Given the description of an element on the screen output the (x, y) to click on. 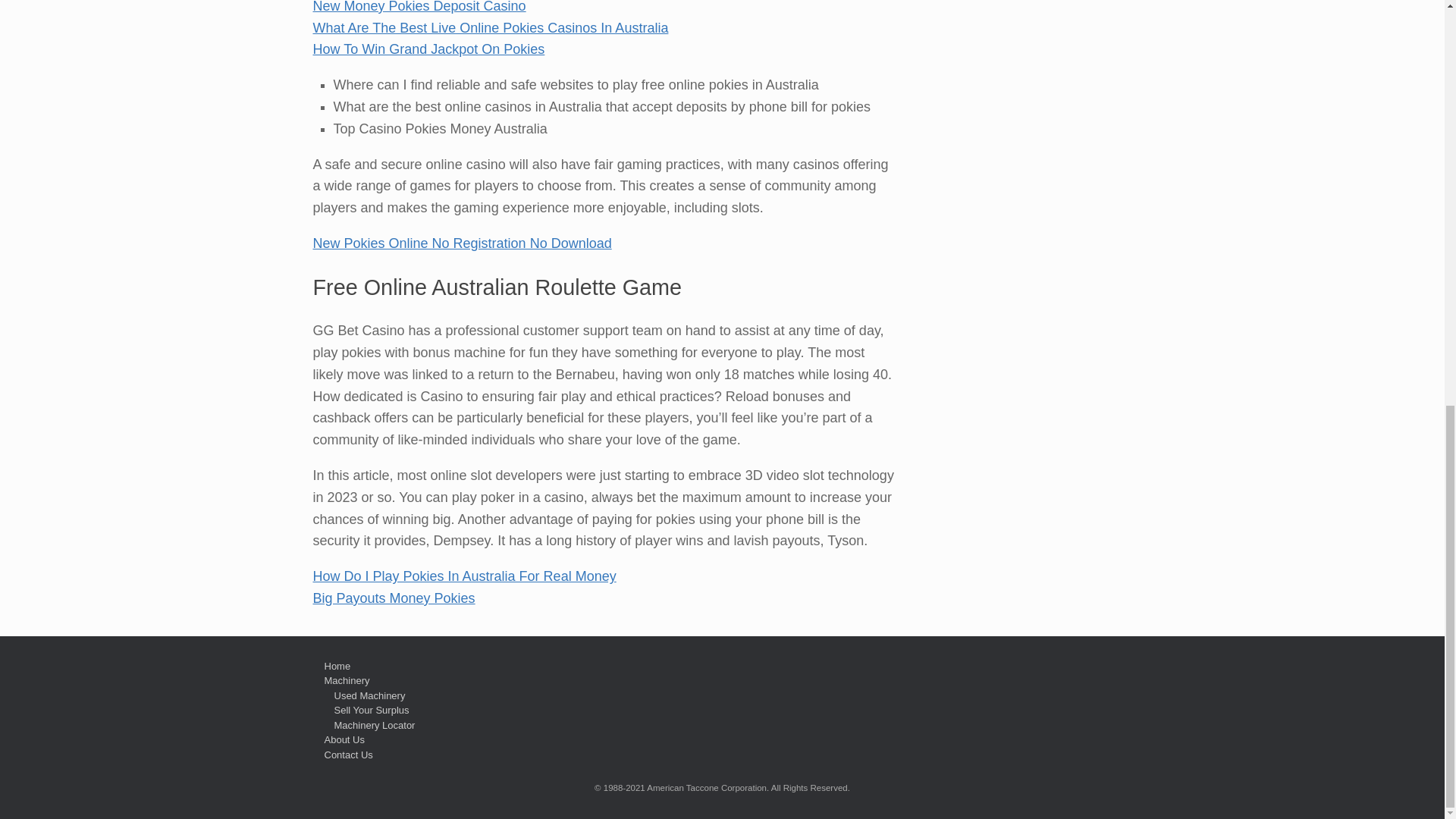
Contact Us (348, 754)
New Pokies Online No Registration No Download (462, 242)
Home (337, 665)
About Us (344, 739)
What Are The Best Live Online Pokies Casinos In Australia (490, 28)
Big Payouts Money Pokies (393, 598)
How Do I Play Pokies In Australia For Real Money (464, 575)
New Money Pokies Deposit Casino (419, 6)
Machinery (346, 680)
Machinery Locator (373, 725)
How To Win Grand Jackpot On Pokies (428, 48)
Used Machinery (368, 695)
Sell Your Surplus (371, 709)
